Given the description of an element on the screen output the (x, y) to click on. 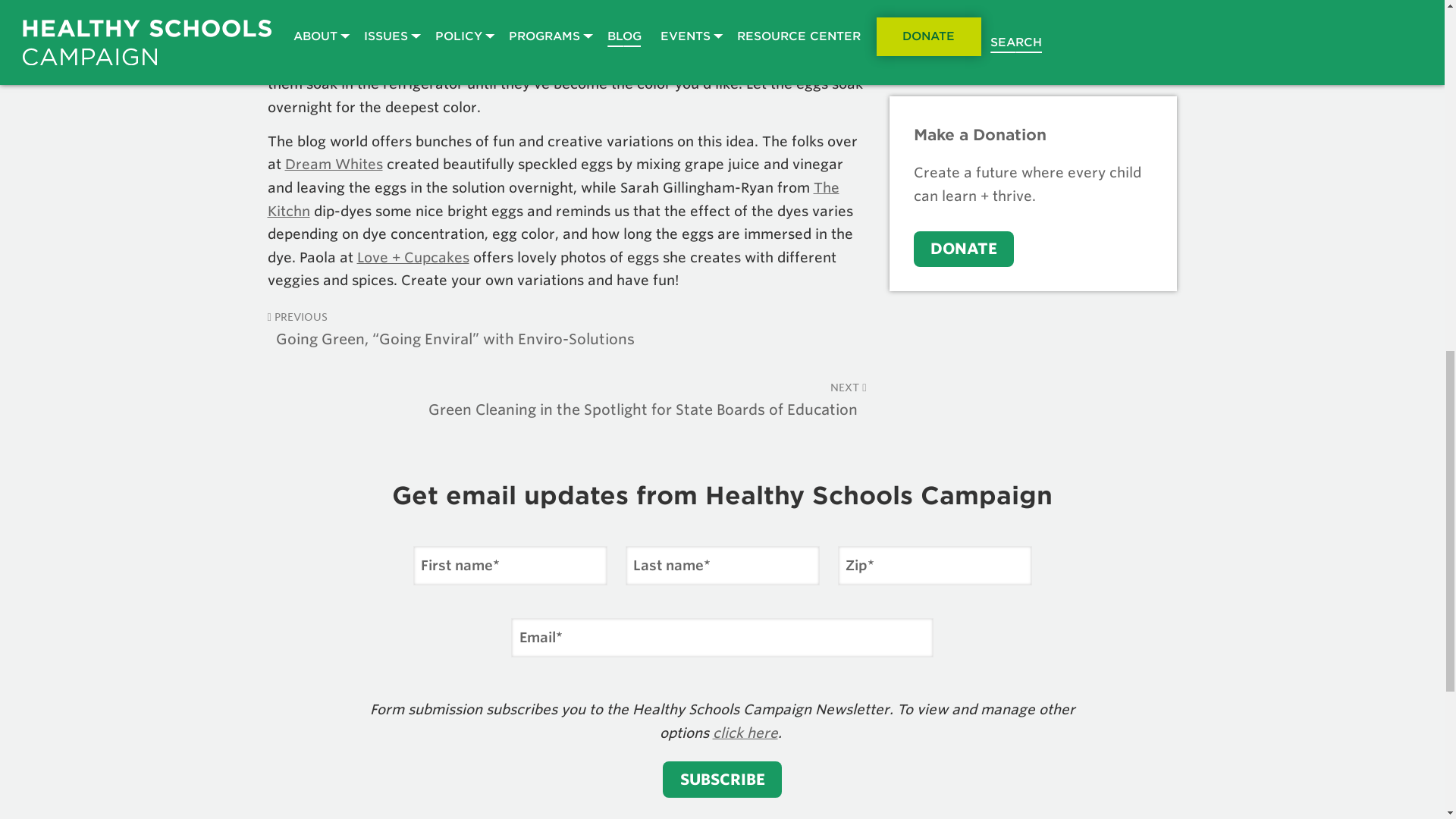
First name  (509, 565)
Zip  (933, 565)
Email  (722, 637)
Subscribe (721, 779)
Last name  (721, 565)
